Given the description of an element on the screen output the (x, y) to click on. 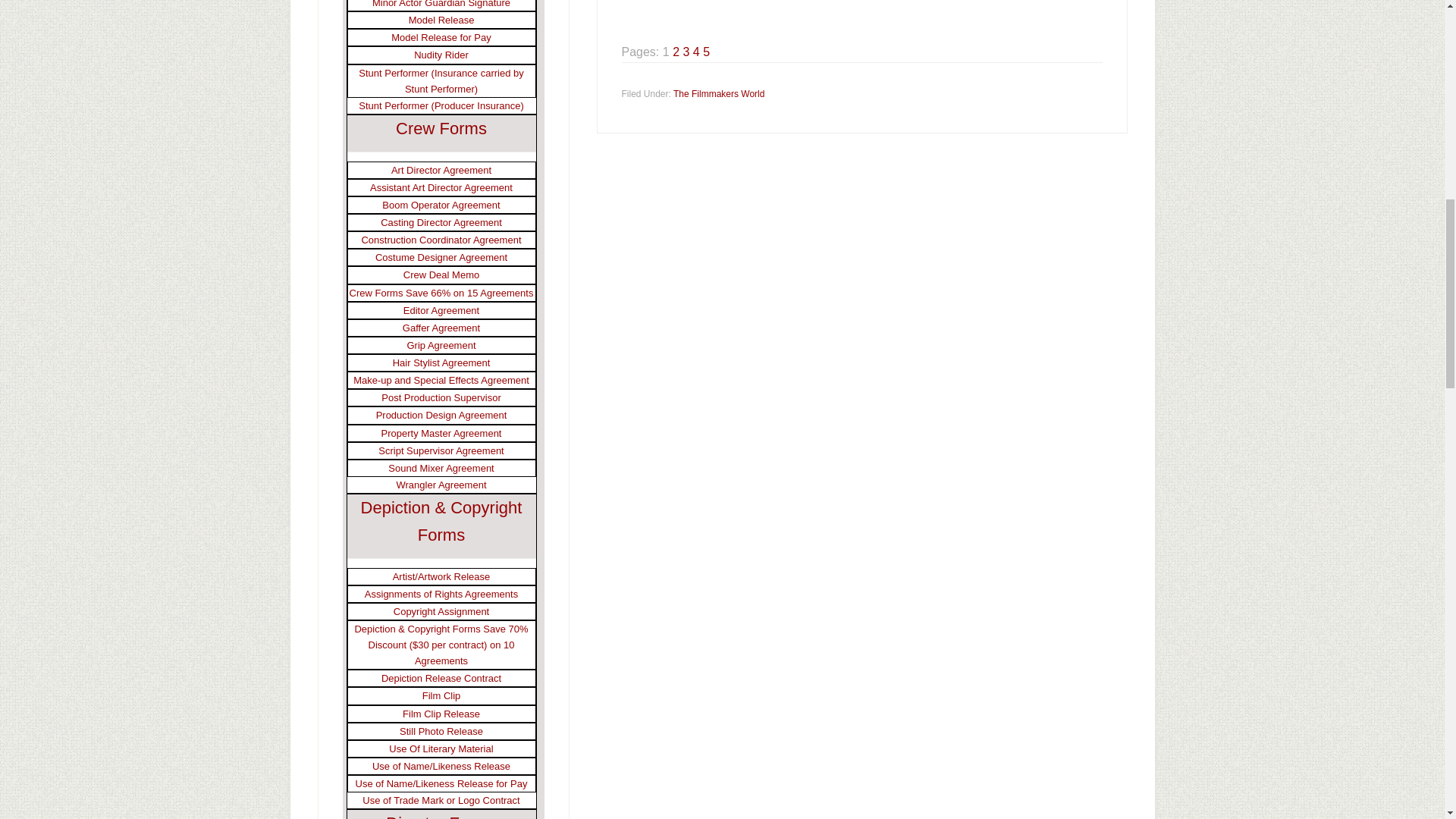
Art Director Agreement (441, 170)
Boom Operator Agreement (440, 204)
Model Release for Pay (441, 37)
Casting Director Agreement (441, 222)
Assistant Art Director Agreement (440, 187)
Construction Coordinator Agreement (441, 239)
Crew Forms (441, 128)
Nudity Rider (440, 54)
Model Release (441, 19)
The Filmmakers World (718, 93)
